Given the description of an element on the screen output the (x, y) to click on. 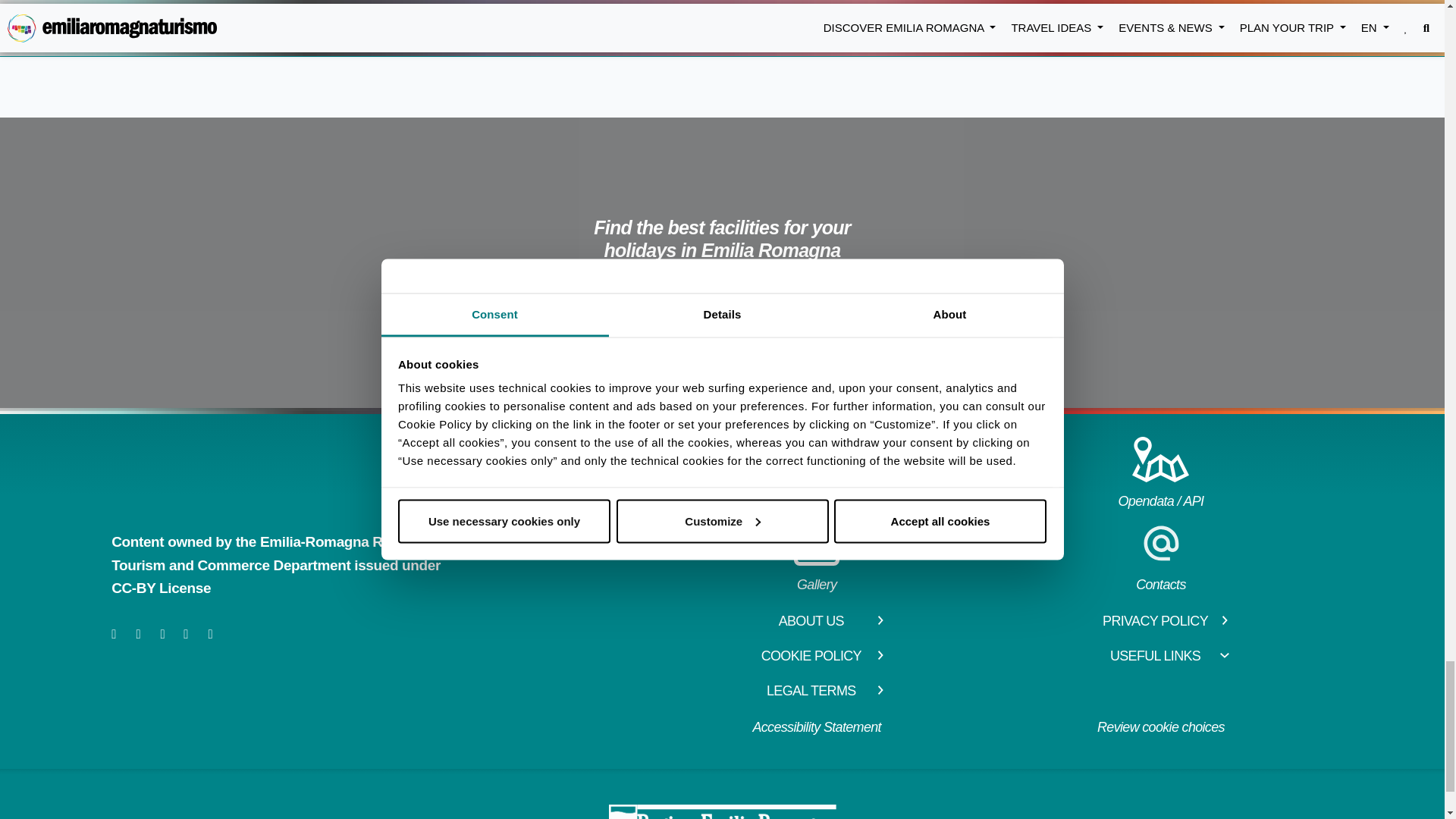
Read more (352, 6)
